Given the description of an element on the screen output the (x, y) to click on. 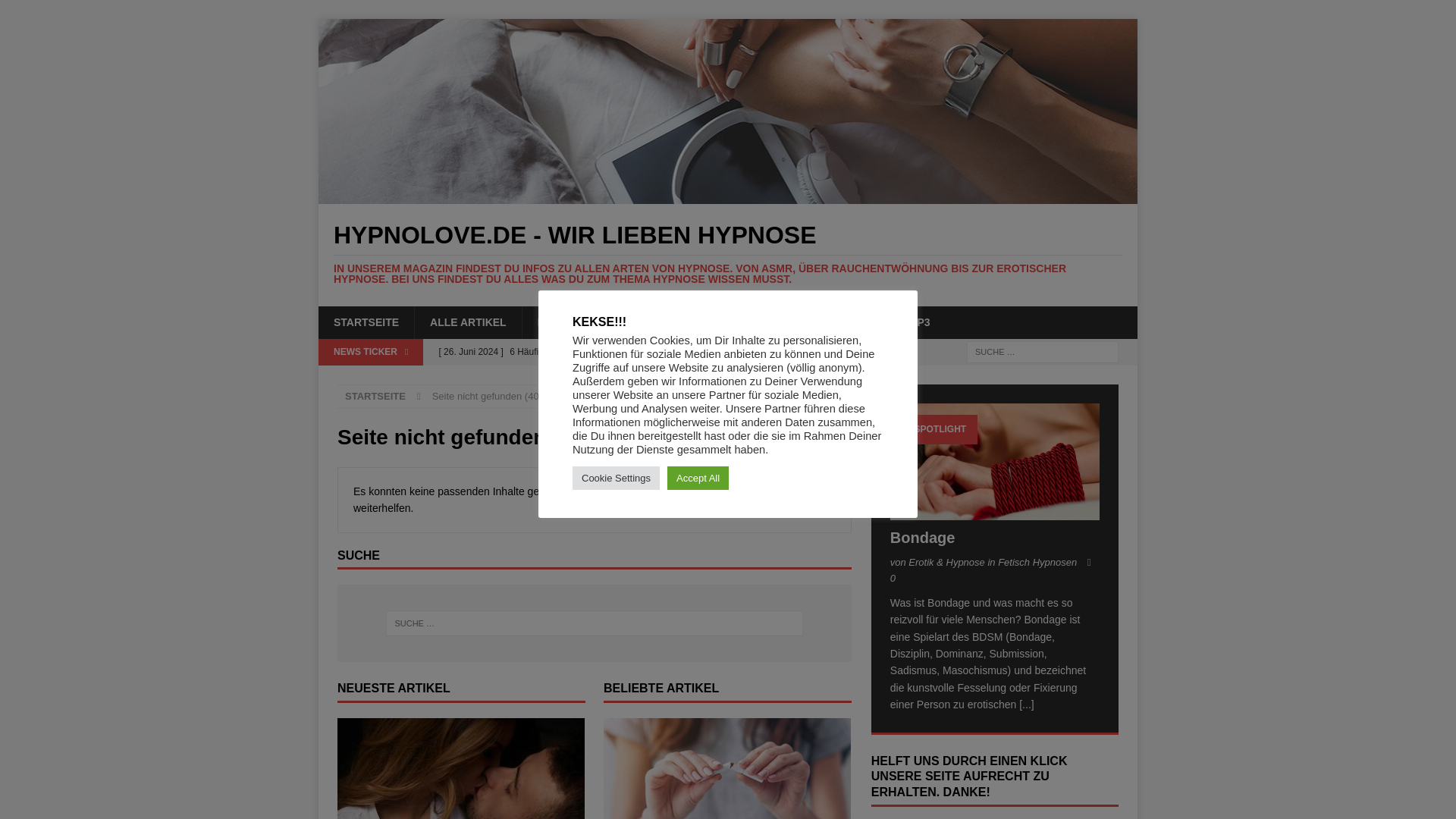
STARTSEITE (365, 322)
Hypnolove.de - Wir lieben Hypnose (727, 253)
STARTSEITE (375, 396)
Hypnolove.de - Wir lieben Hypnose (727, 194)
ALLE ARTIKEL (467, 322)
Suche (56, 11)
HYPNOSE-ANBIETER IM NETZ (614, 322)
